Given the description of an element on the screen output the (x, y) to click on. 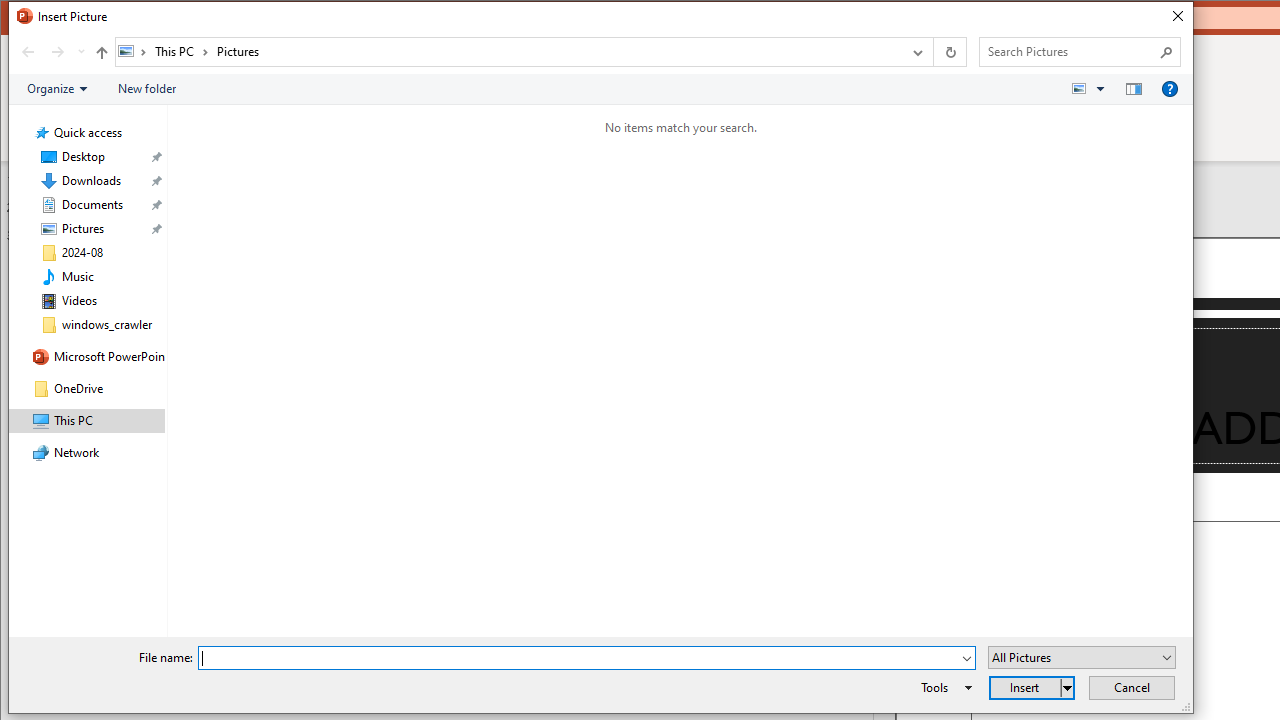
View Slider (1100, 89)
Back (Alt + Left Arrow) (27, 51)
Preview pane (1134, 89)
Up band toolbar (101, 55)
This PC (181, 51)
Organize (56, 89)
Cancel (1132, 688)
&Help (1169, 89)
Refresh "Pictures" (F5) (949, 51)
Command Module (600, 89)
Navigation buttons (50, 51)
Up to "This PC" (Alt + Up Arrow) (101, 52)
All locations (133, 51)
